Given the description of an element on the screen output the (x, y) to click on. 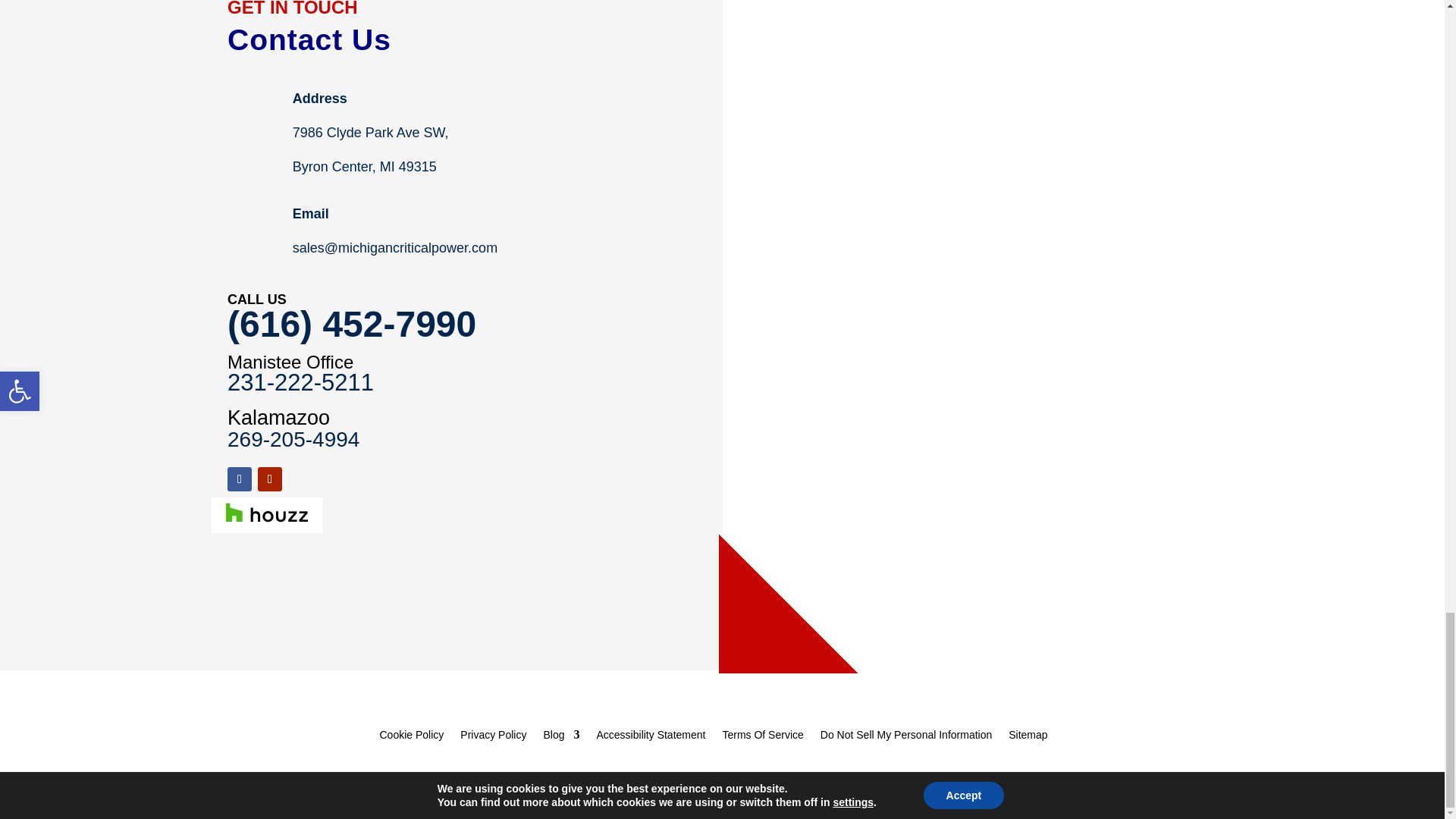
houzz (266, 515)
Follow on Facebook (239, 478)
Follow on Youtube (269, 478)
